Given the description of an element on the screen output the (x, y) to click on. 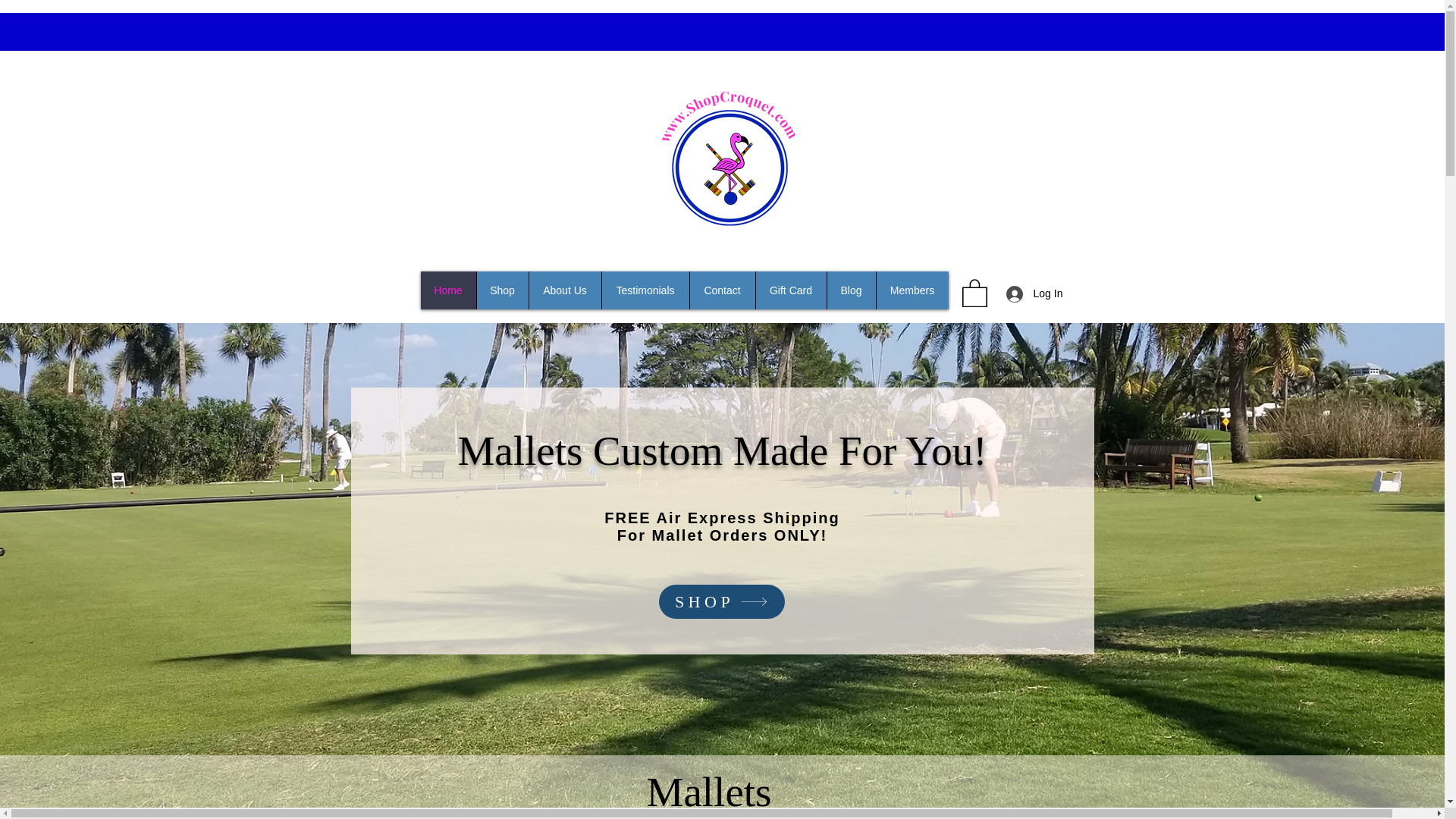
Blog (851, 290)
Home (448, 290)
Testimonials (643, 290)
Gift Card (791, 290)
Contact (721, 290)
Log In (1028, 293)
Shop (502, 290)
SHOP (721, 601)
Members (911, 290)
About Us (563, 290)
